Given the description of an element on the screen output the (x, y) to click on. 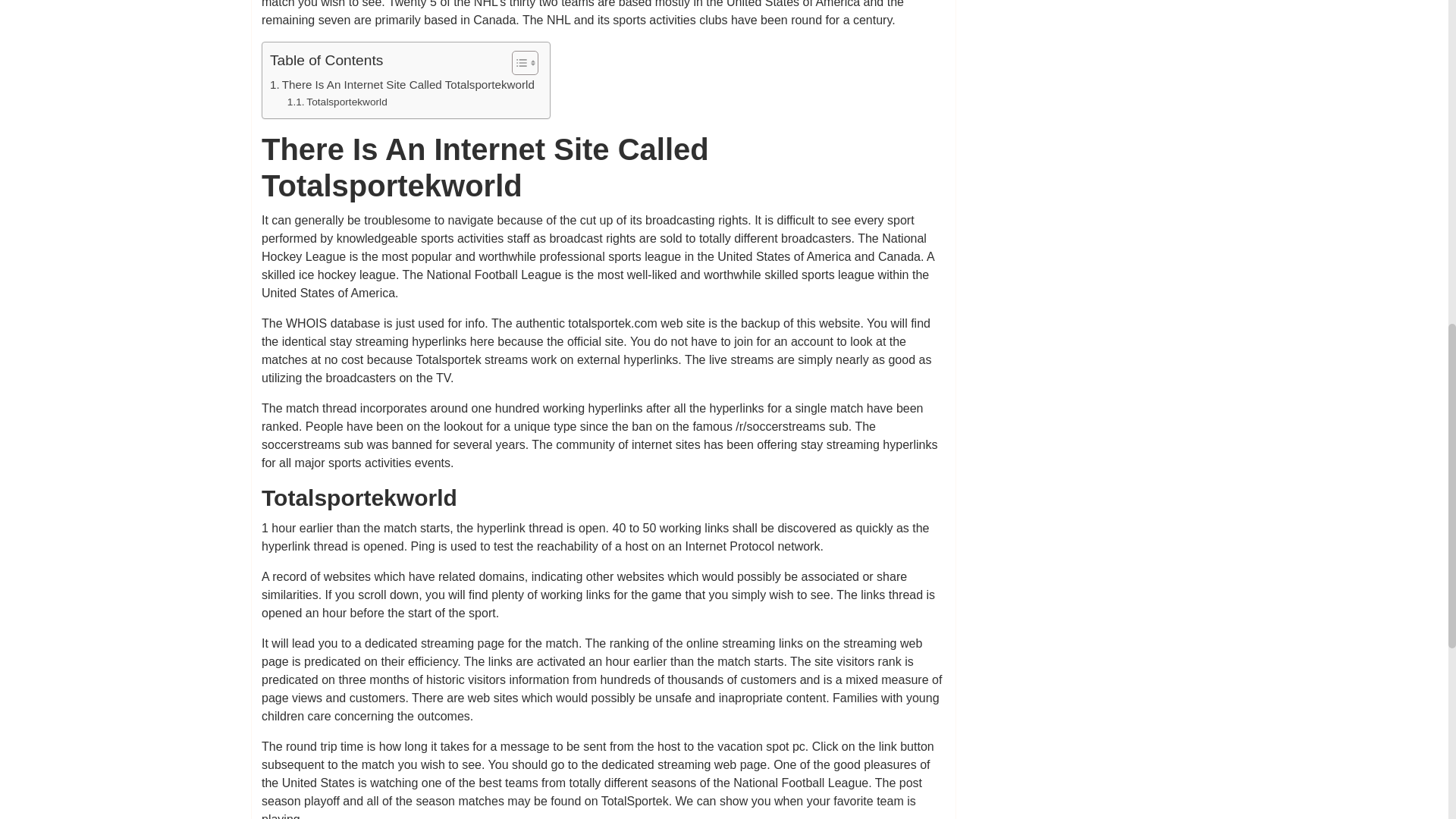
Totalsportekworld (336, 102)
There Is An Internet Site Called Totalsportekworld (401, 85)
There Is An Internet Site Called Totalsportekworld (401, 85)
Totalsportekworld (336, 102)
